Given the description of an element on the screen output the (x, y) to click on. 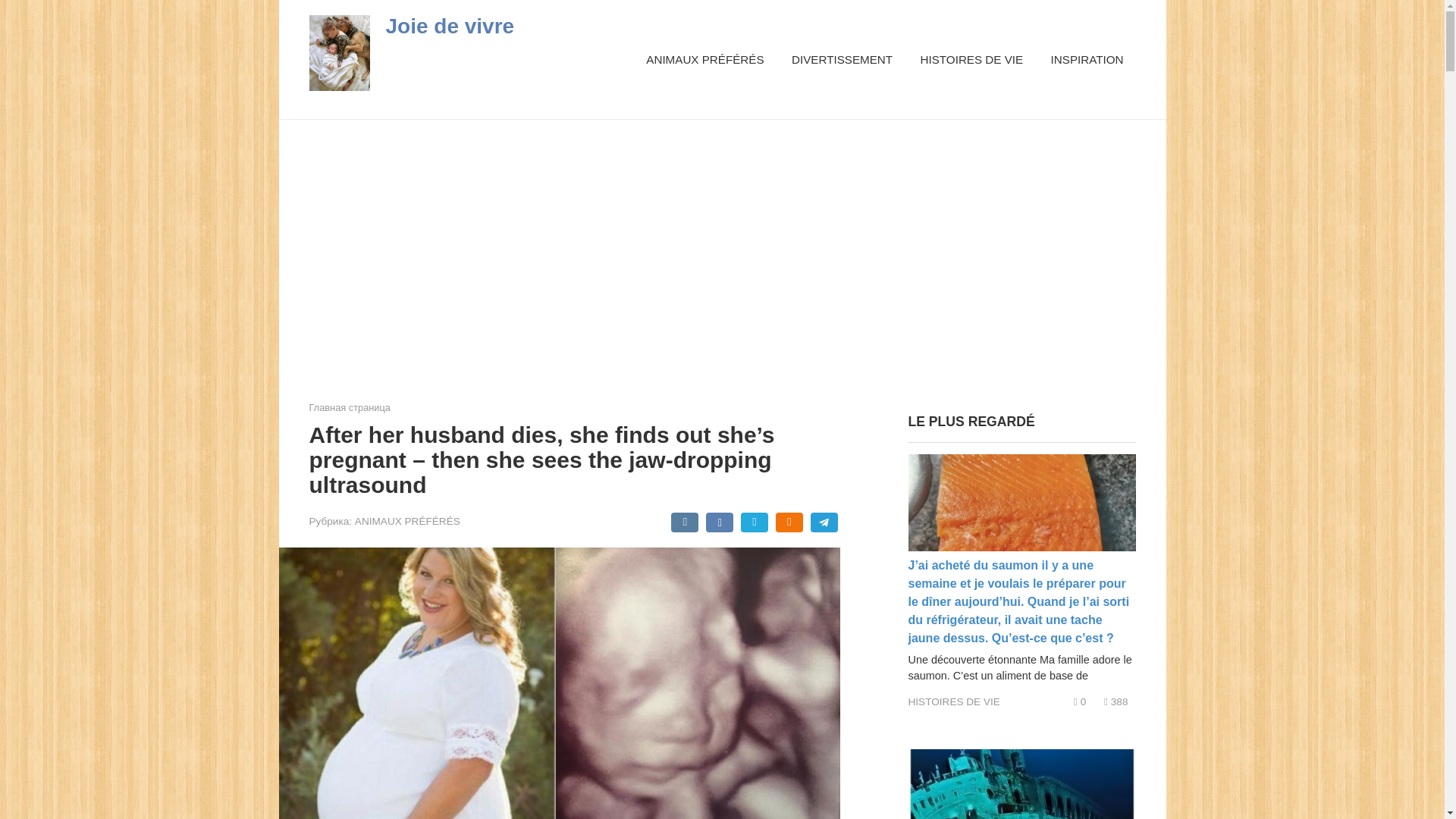
Joie de vivre (449, 25)
HISTOIRES DE VIE (954, 701)
HISTOIRES DE VIE (971, 59)
INSPIRATION (1087, 59)
DIVERTISSEMENT (842, 59)
